Given the description of an element on the screen output the (x, y) to click on. 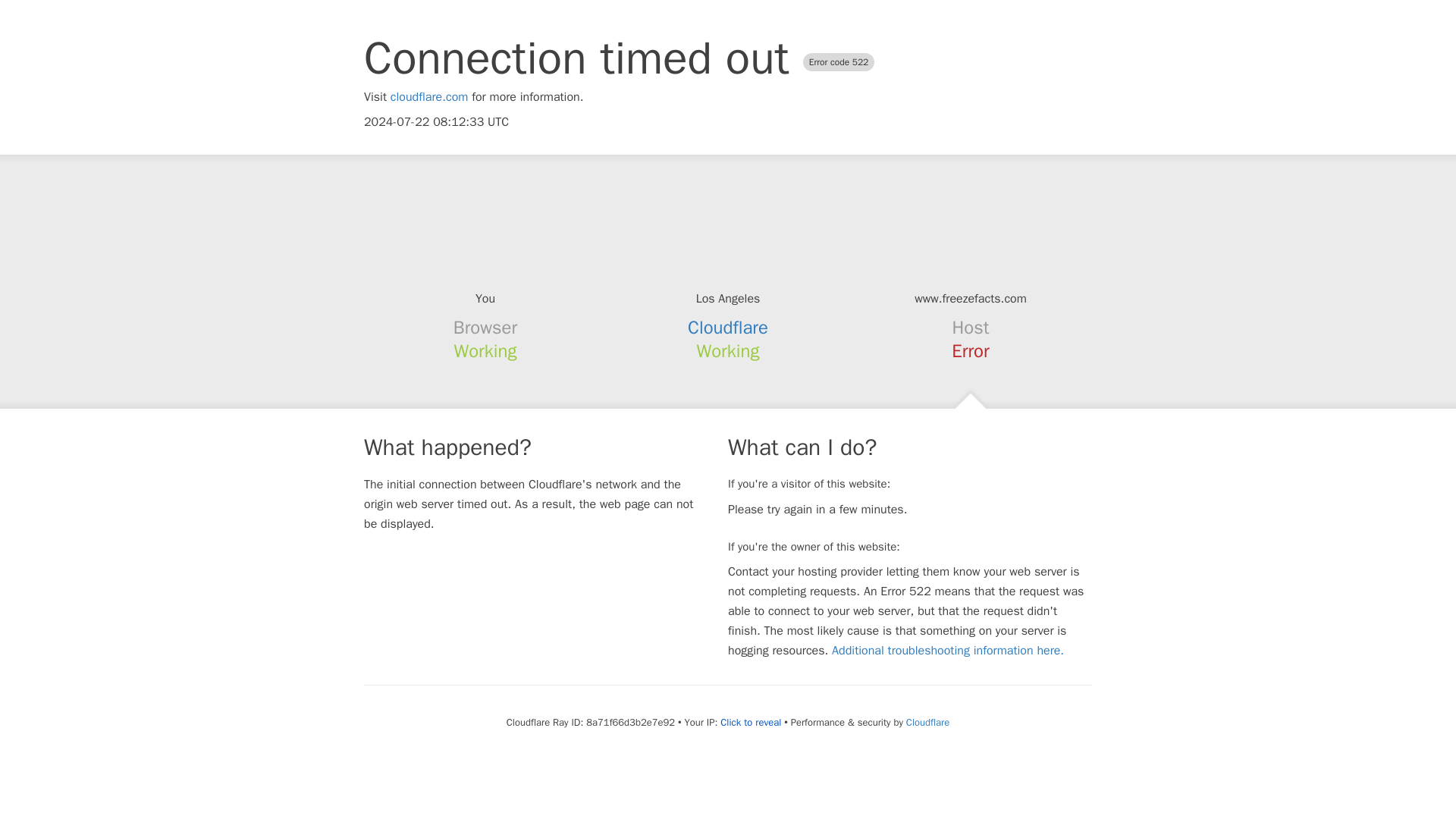
Additional troubleshooting information here. (947, 650)
Cloudflare (727, 327)
Cloudflare (927, 721)
cloudflare.com (429, 96)
Click to reveal (750, 722)
